Given the description of an element on the screen output the (x, y) to click on. 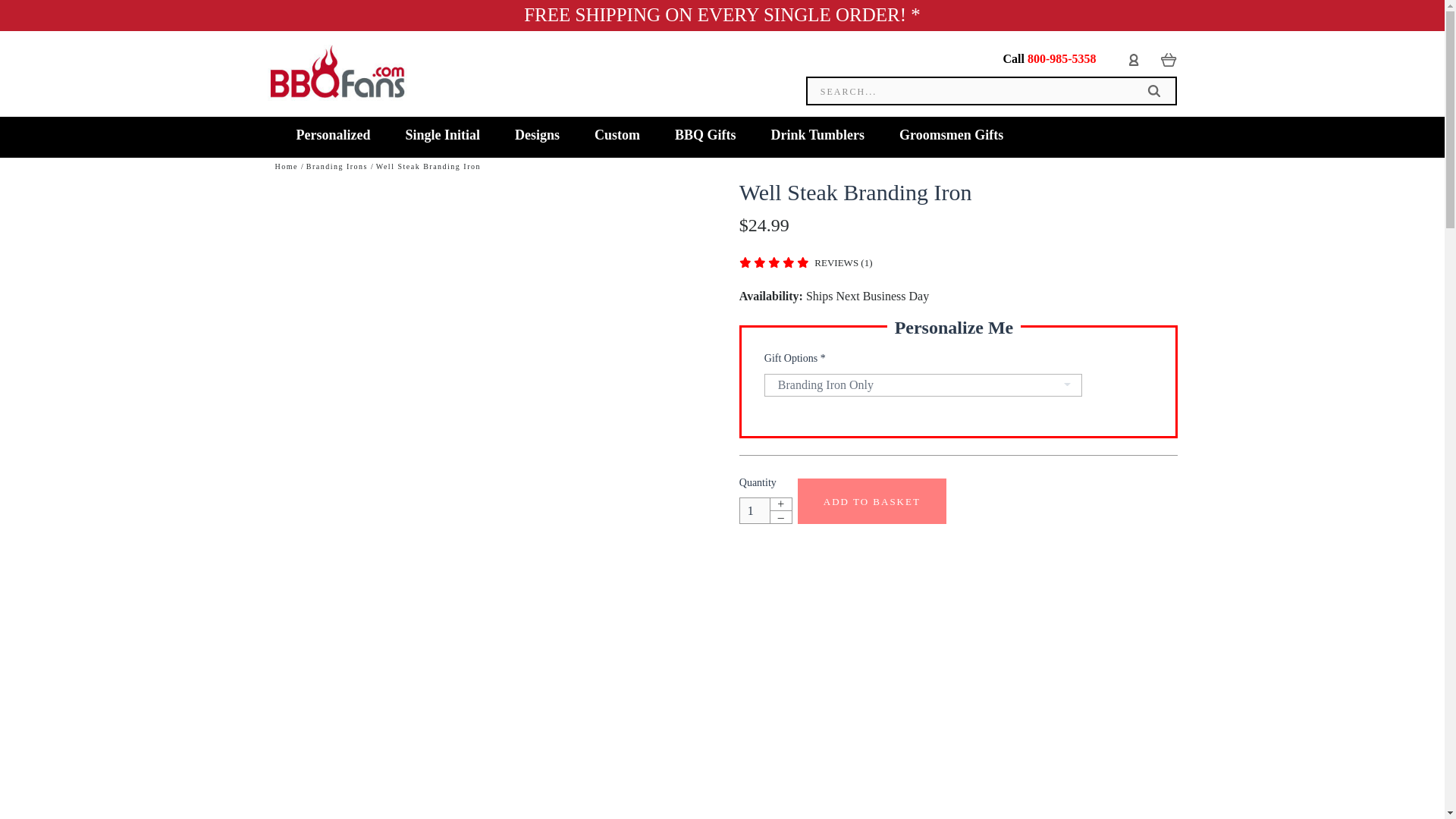
800-985-5358 (1061, 58)
Designs (536, 136)
Single Initial (442, 136)
Personalized (333, 136)
1 (754, 510)
